Given the description of an element on the screen output the (x, y) to click on. 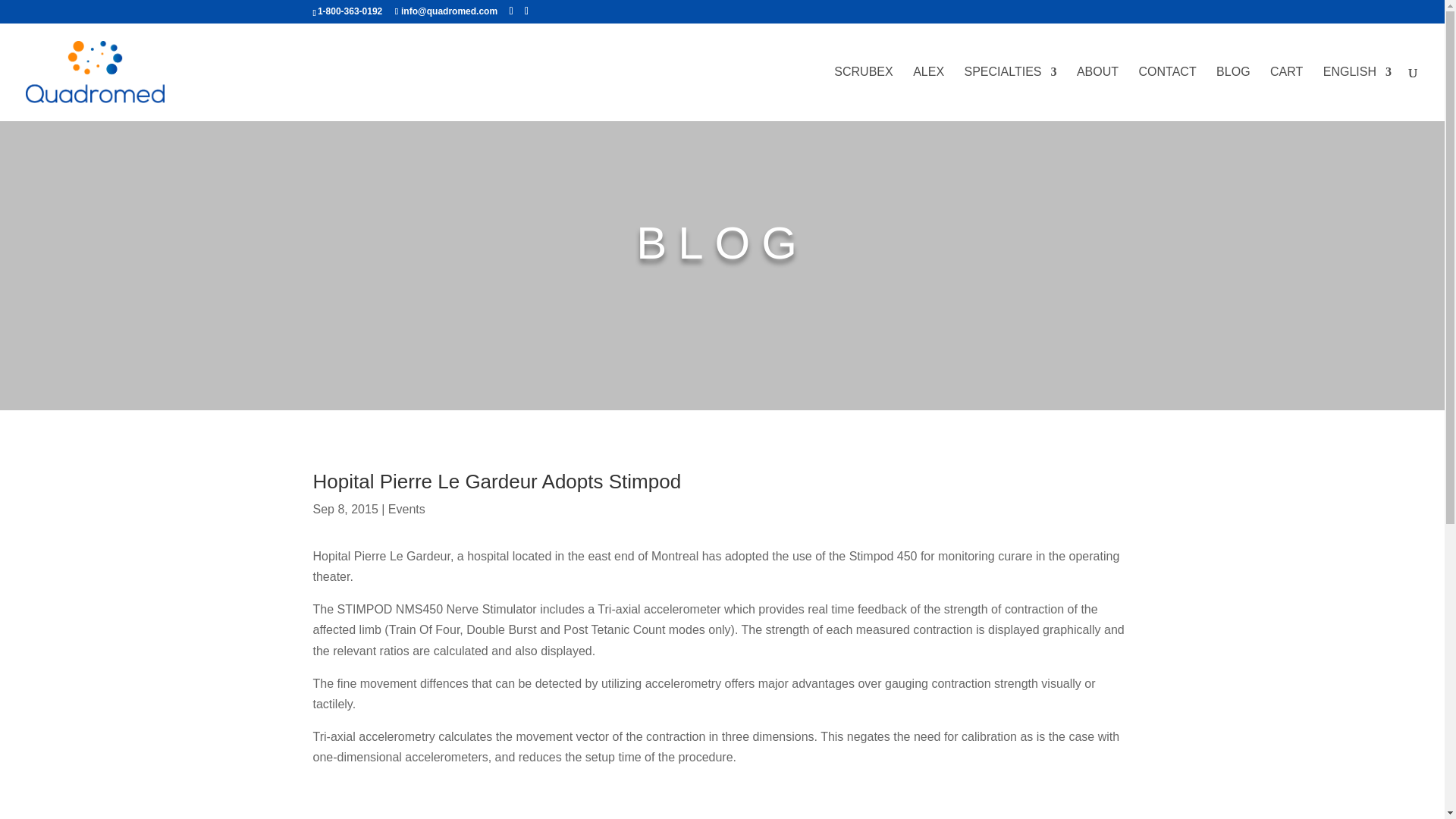
Events (406, 508)
English (1357, 93)
CONTACT (1167, 93)
SCRUBEX (863, 93)
ENGLISH (1357, 93)
SPECIALTIES (1010, 93)
